Given the description of an element on the screen output the (x, y) to click on. 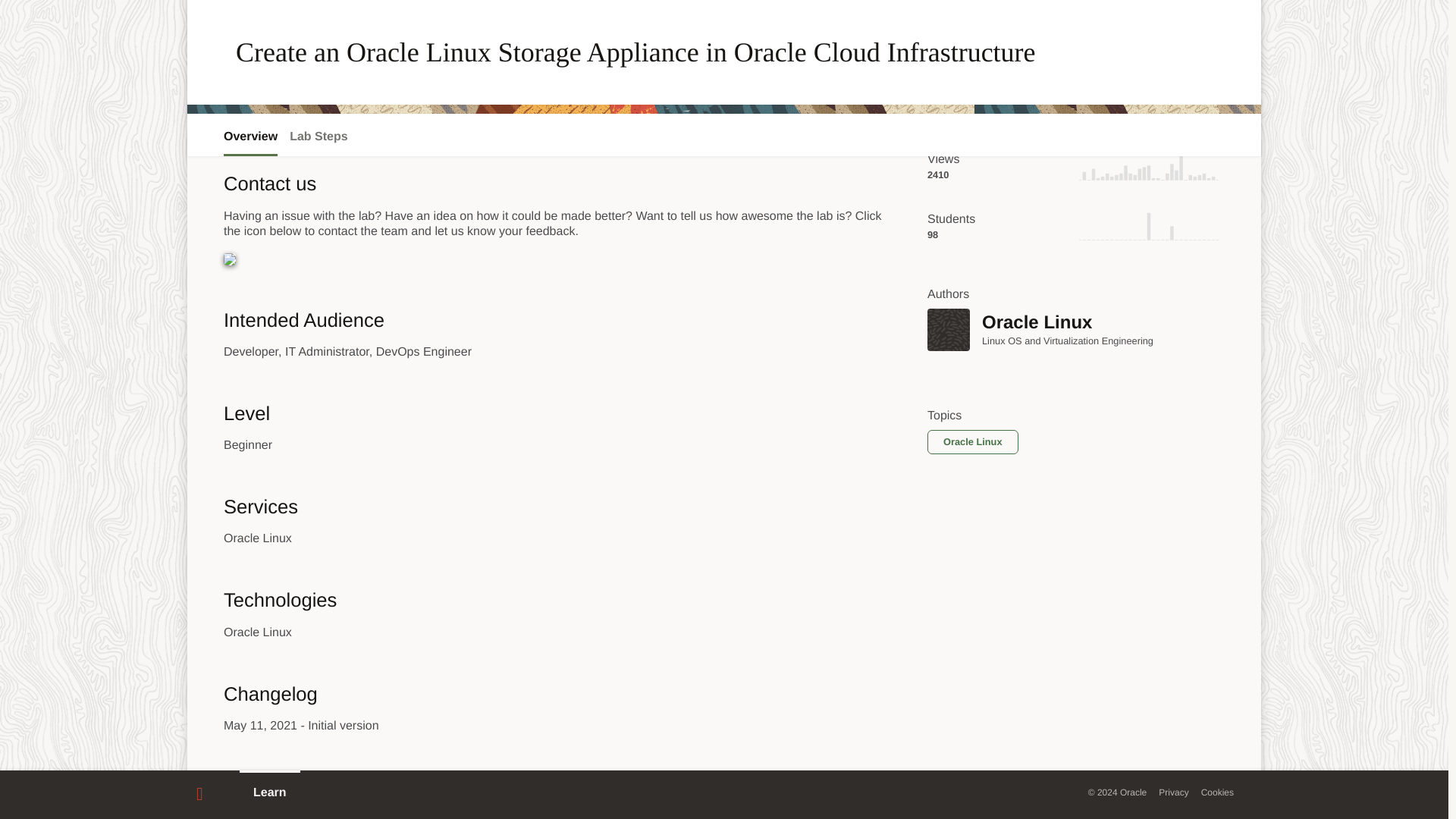
Overview (251, 35)
Cookies (1217, 691)
Oracle Linux (948, 329)
Lab Steps (318, 35)
Privacy (1173, 691)
Learn (269, 692)
